Given the description of an element on the screen output the (x, y) to click on. 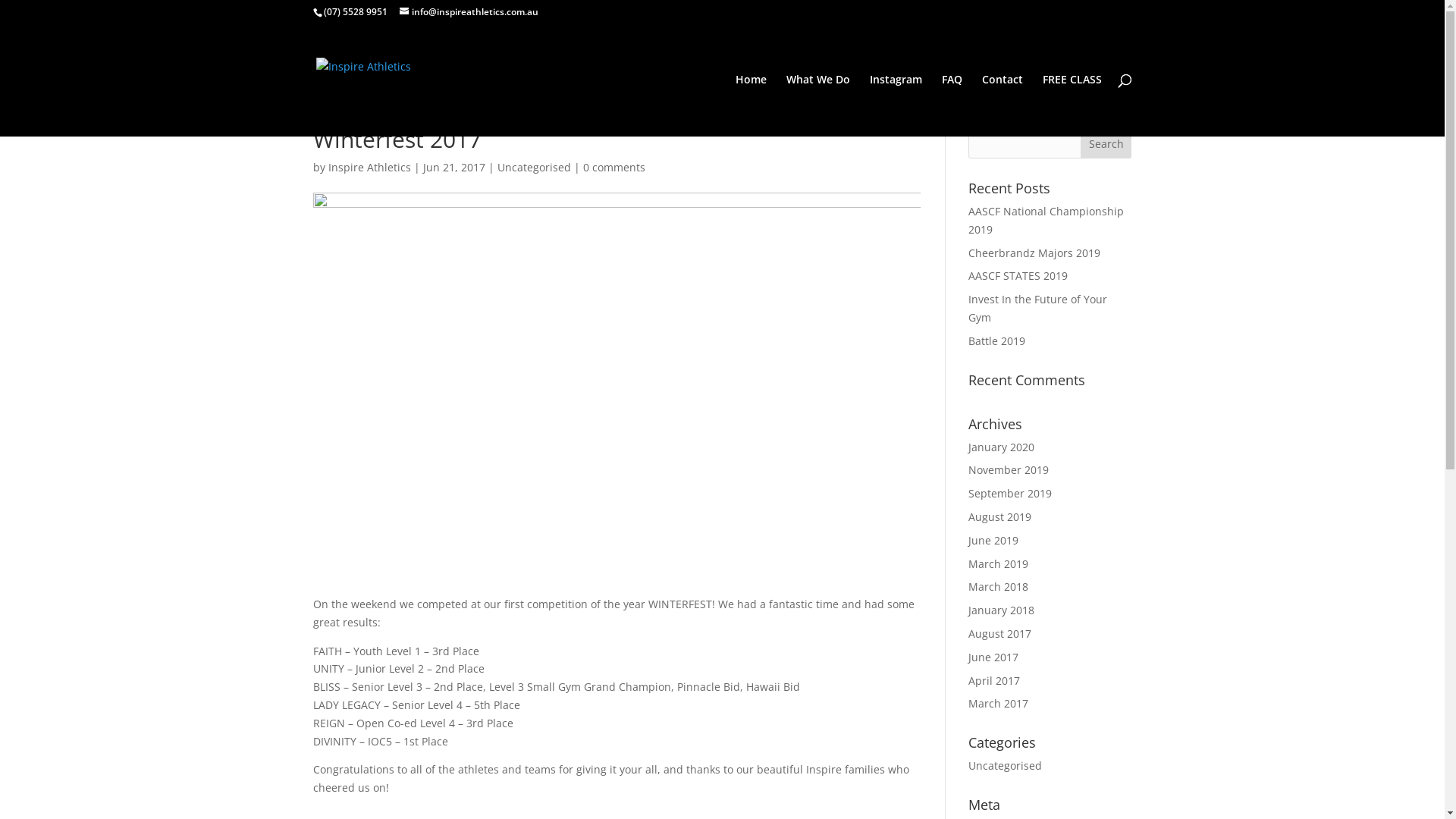
AASCF National Championship 2019 Element type: text (1045, 219)
April 2017 Element type: text (993, 680)
March 2017 Element type: text (998, 703)
Contact Element type: text (1001, 105)
September 2019 Element type: text (1009, 493)
0 comments Element type: text (613, 167)
March 2018 Element type: text (998, 586)
November 2019 Element type: text (1008, 469)
Inspire Athletics Element type: text (368, 167)
Home Element type: text (750, 105)
Invest In the Future of Your Gym Element type: text (1037, 307)
What We Do Element type: text (817, 105)
Search Element type: text (1106, 143)
March 2019 Element type: text (998, 563)
Instagram Element type: text (895, 105)
January 2018 Element type: text (1001, 609)
FAQ Element type: text (951, 105)
Cheerbrandz Majors 2019 Element type: text (1034, 252)
FREE CLASS Element type: text (1071, 105)
June 2019 Element type: text (993, 540)
August 2019 Element type: text (999, 516)
Uncategorised Element type: text (1004, 765)
August 2017 Element type: text (999, 633)
June 2017 Element type: text (993, 656)
January 2020 Element type: text (1001, 446)
Battle 2019 Element type: text (996, 340)
info@inspireathletics.com.au Element type: text (467, 11)
Uncategorised Element type: text (534, 167)
AASCF STATES 2019 Element type: text (1017, 275)
